Given the description of an element on the screen output the (x, y) to click on. 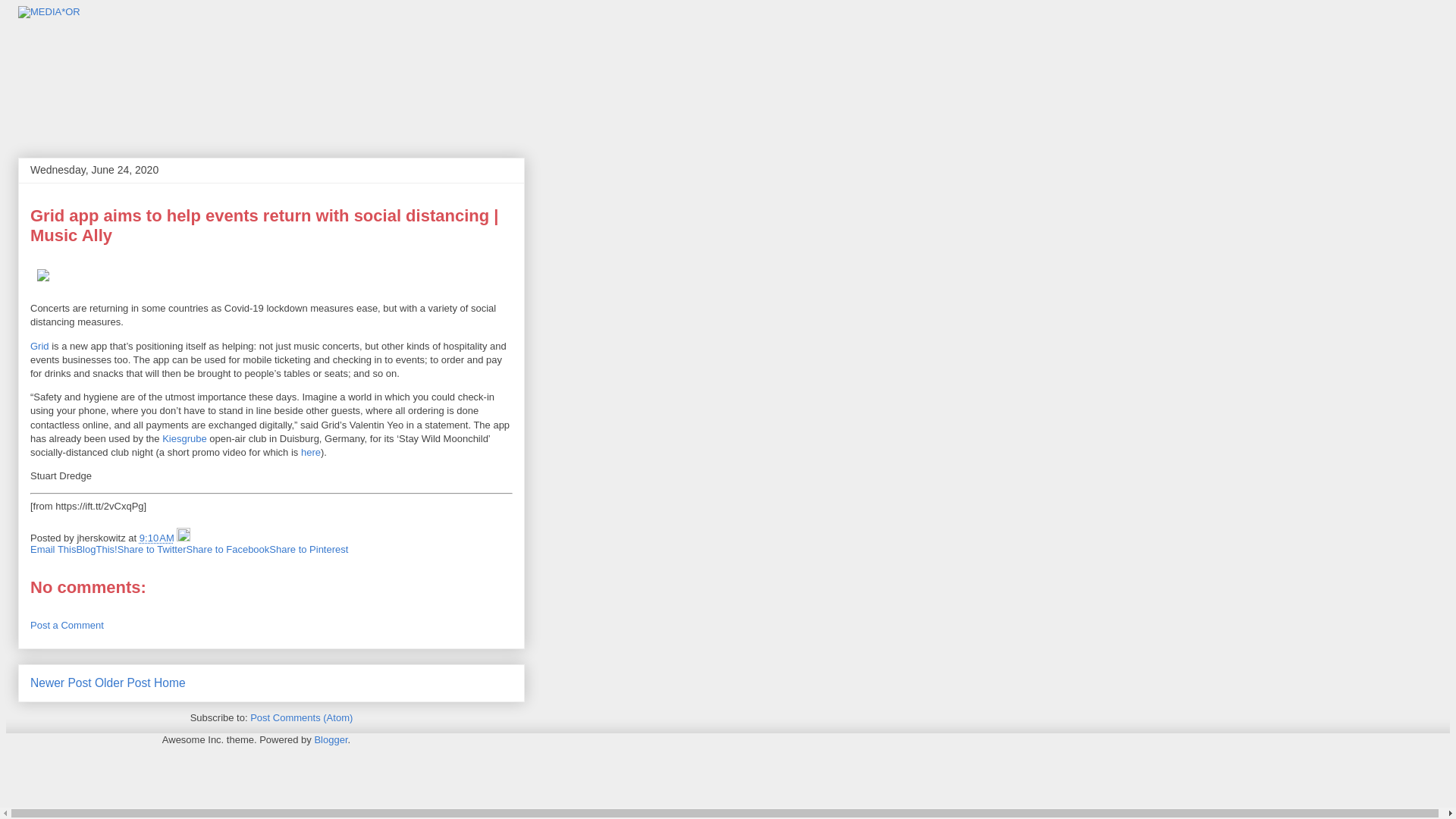
Grid (39, 346)
Email This (52, 549)
here (310, 451)
Share to Twitter (151, 549)
Edit Post (183, 537)
Home (170, 682)
Newer Post (60, 682)
Email This (52, 549)
permanent link (156, 537)
Share to Twitter (151, 549)
Newer Post (60, 682)
Post a Comment (66, 624)
BlogThis! (95, 549)
Older Post (122, 682)
Share to Facebook (227, 549)
